Given the description of an element on the screen output the (x, y) to click on. 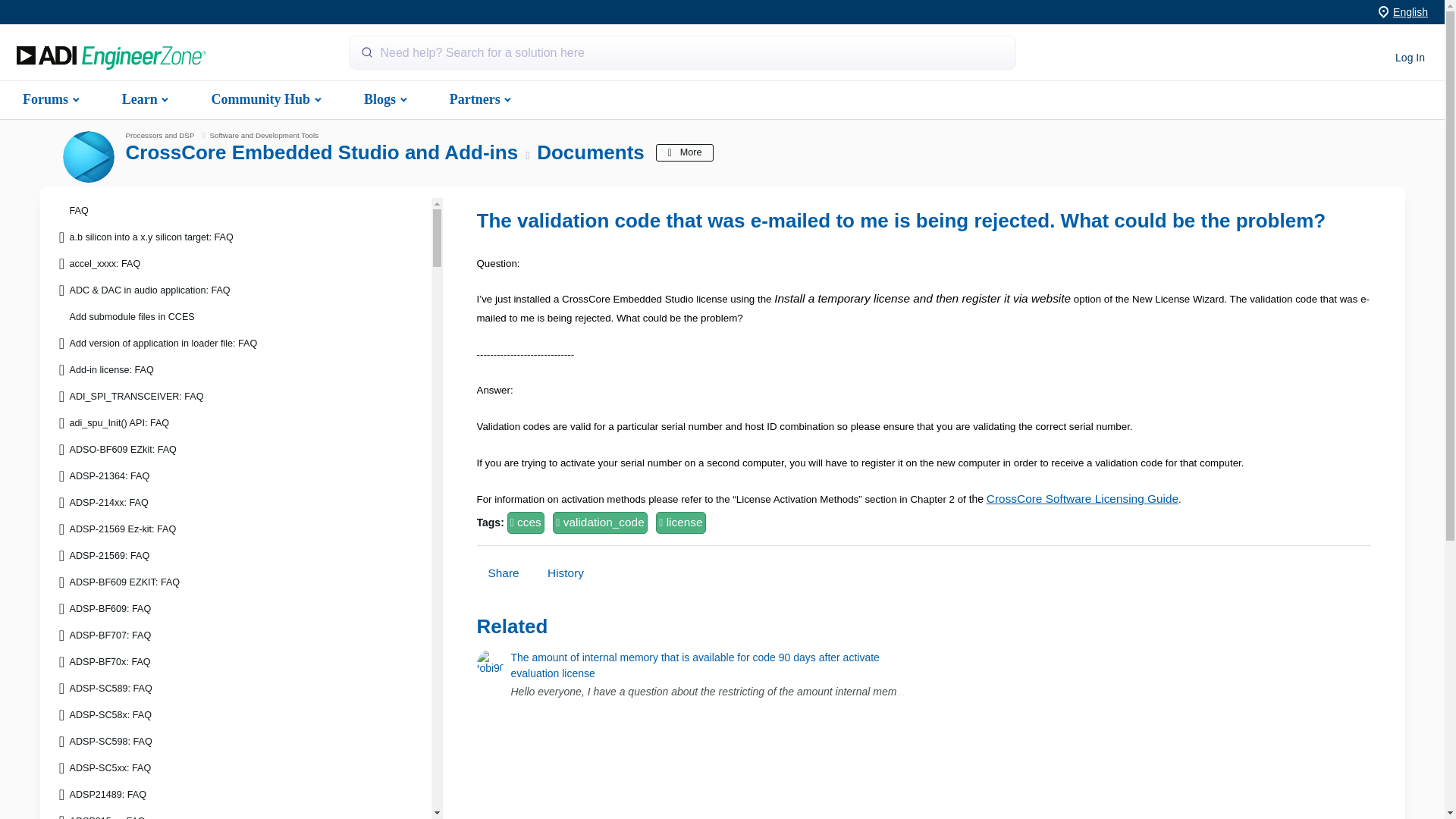
English (1410, 11)
Home (111, 57)
Forums (49, 98)
Log In (1409, 57)
Join or sign in (1409, 57)
